Given the description of an element on the screen output the (x, y) to click on. 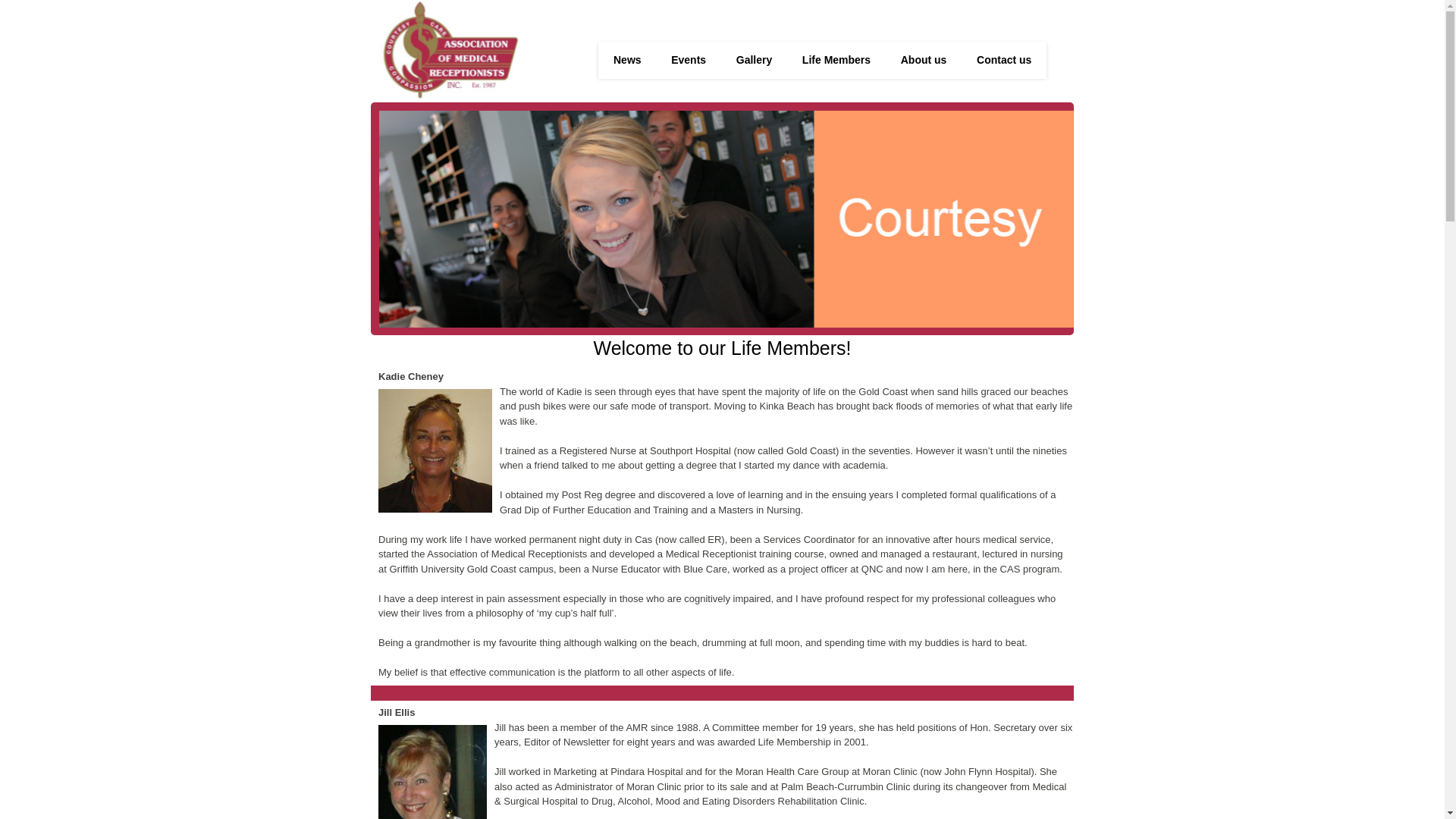
Events Element type: text (686, 59)
About us Element type: text (922, 59)
Life Members Element type: text (834, 59)
News Element type: text (625, 59)
Contact us Element type: text (1002, 59)
Gallery Element type: text (753, 59)
